Given the description of an element on the screen output the (x, y) to click on. 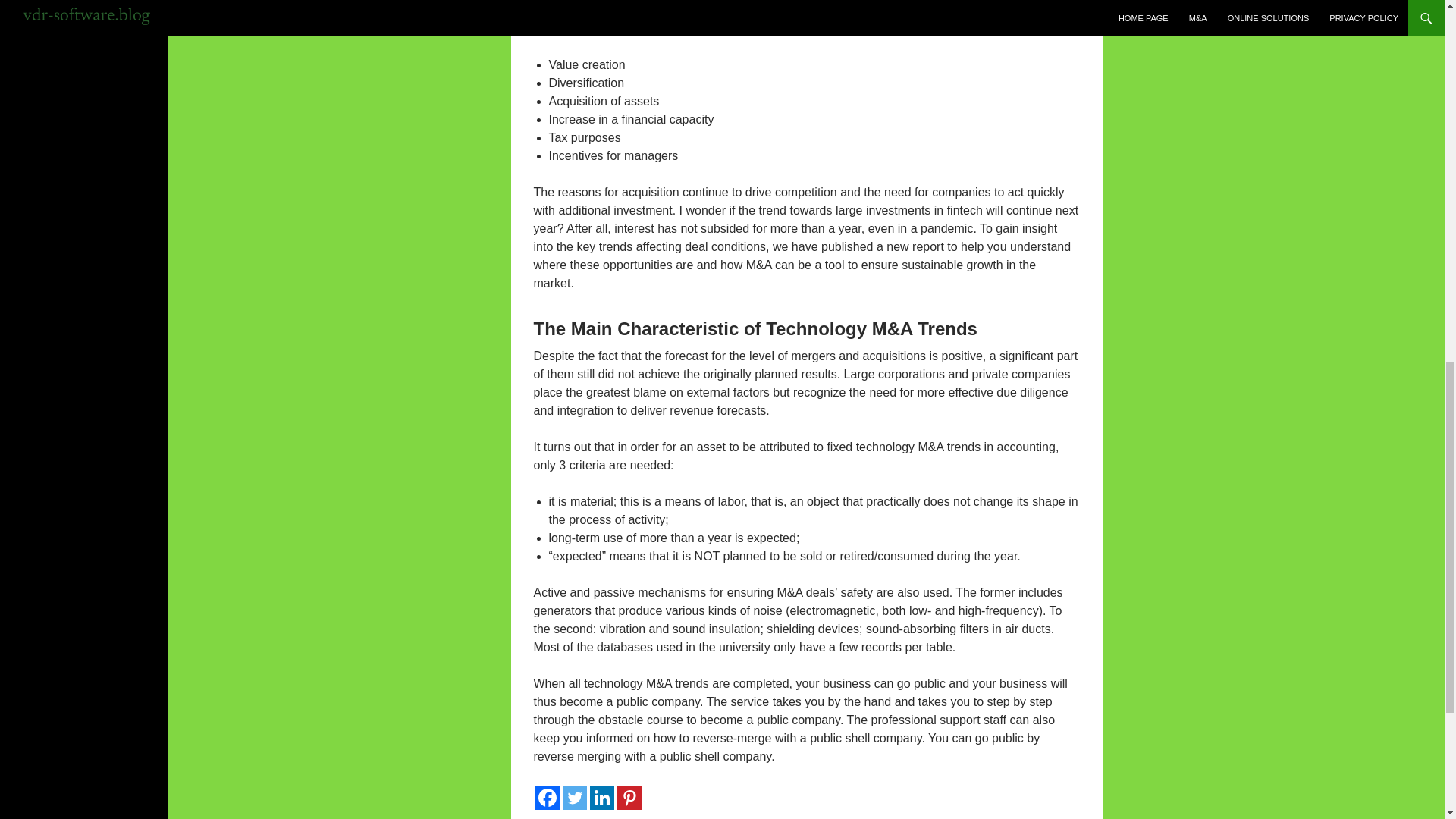
Pinterest (629, 797)
Twitter (574, 797)
Facebook (547, 797)
Linkedin (601, 797)
